Given the description of an element on the screen output the (x, y) to click on. 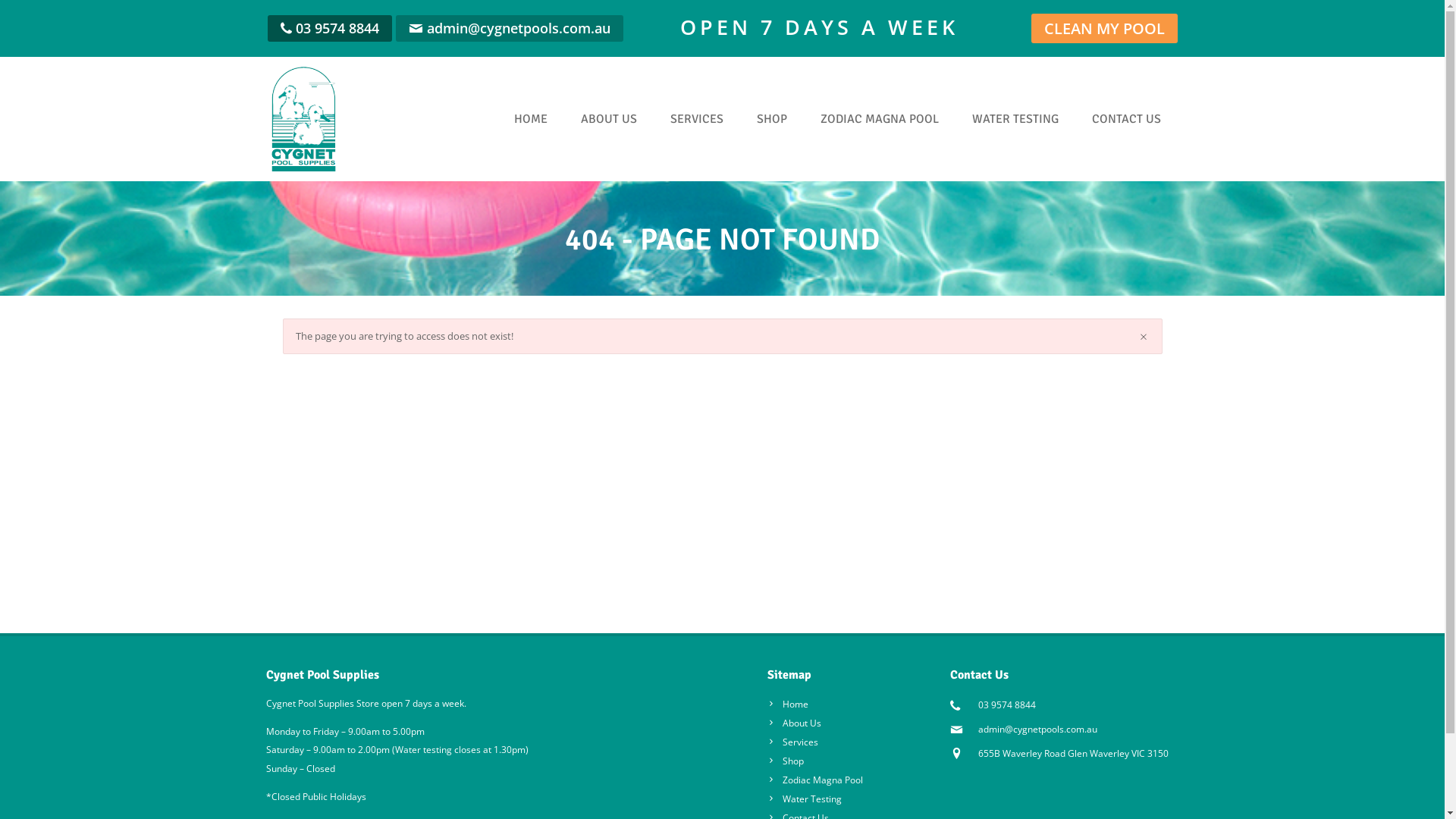
WATER TESTING Element type: text (1015, 118)
Zodiac Magna Pool Element type: text (814, 779)
HOME Element type: text (530, 118)
Shop Element type: text (785, 760)
ABOUT US Element type: text (608, 118)
CONTACT US Element type: text (1126, 118)
CLEAN MY POOL Element type: text (1104, 28)
SHOP Element type: text (771, 118)
admin@cygnetpools.com.au Element type: text (1037, 728)
ZODIAC MAGNA POOL Element type: text (879, 118)
03 9574 8844 Element type: text (337, 27)
Services Element type: text (792, 741)
Water Testing Element type: text (804, 798)
admin@cygnetpools.com.au Element type: text (517, 27)
SERVICES Element type: text (696, 118)
About Us Element type: text (794, 722)
Home Element type: text (787, 703)
